Given the description of an element on the screen output the (x, y) to click on. 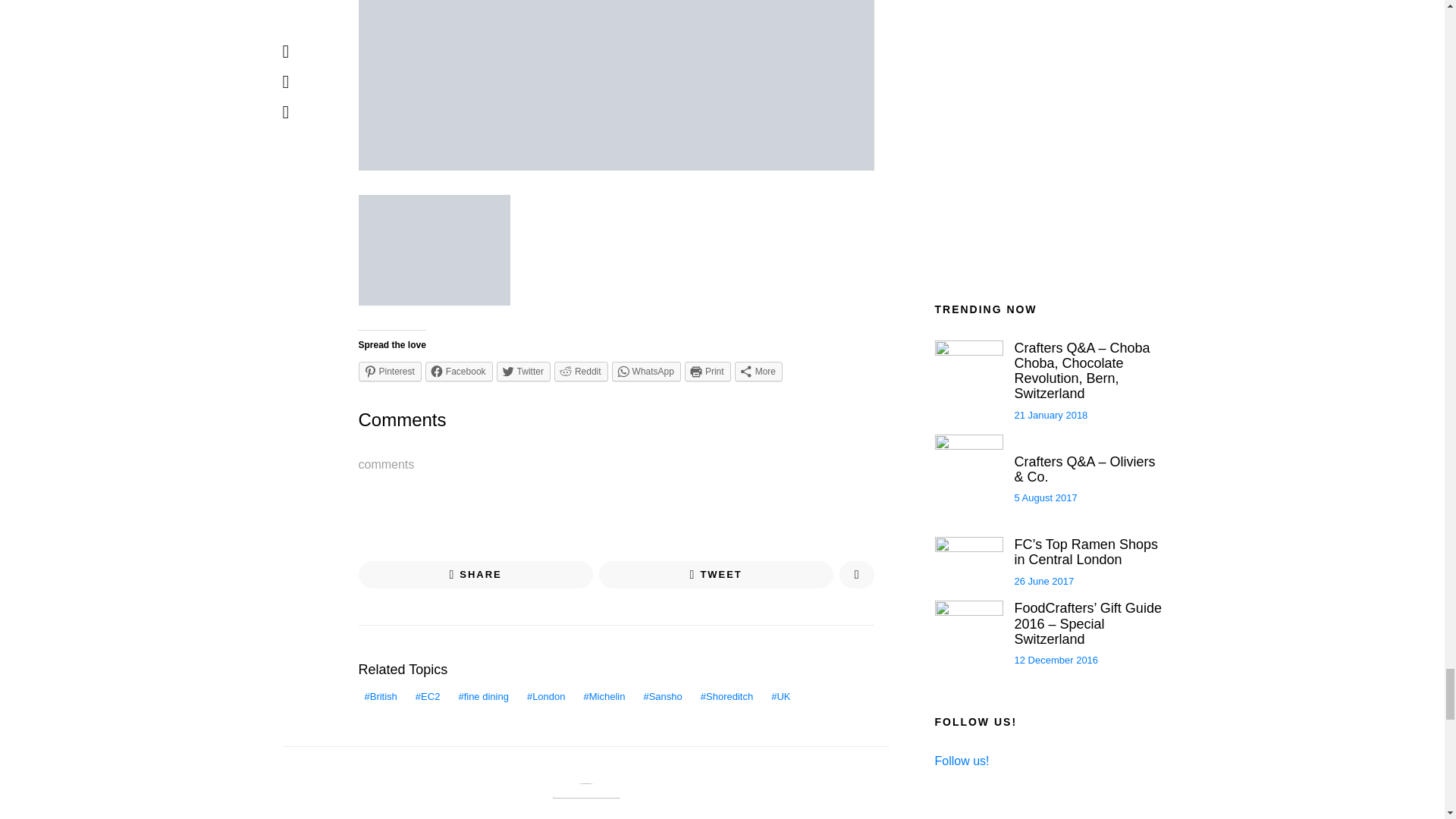
Click to share on Twitter (523, 371)
Click to share on Facebook (459, 371)
Click to share on WhatsApp (646, 371)
Click to share on Pinterest (389, 371)
Click to share on Reddit (581, 371)
Click to print (707, 371)
